Given the description of an element on the screen output the (x, y) to click on. 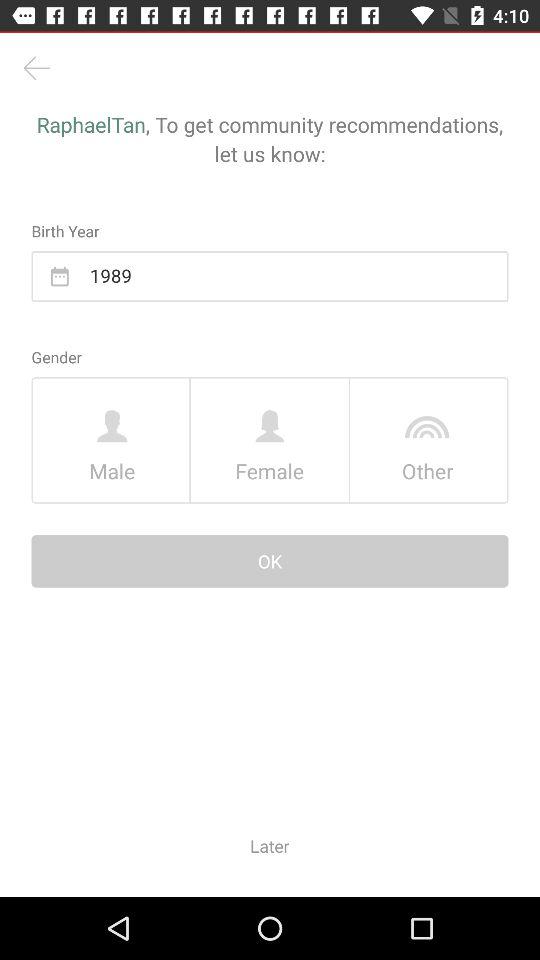
goes to the previous page (36, 68)
